Given the description of an element on the screen output the (x, y) to click on. 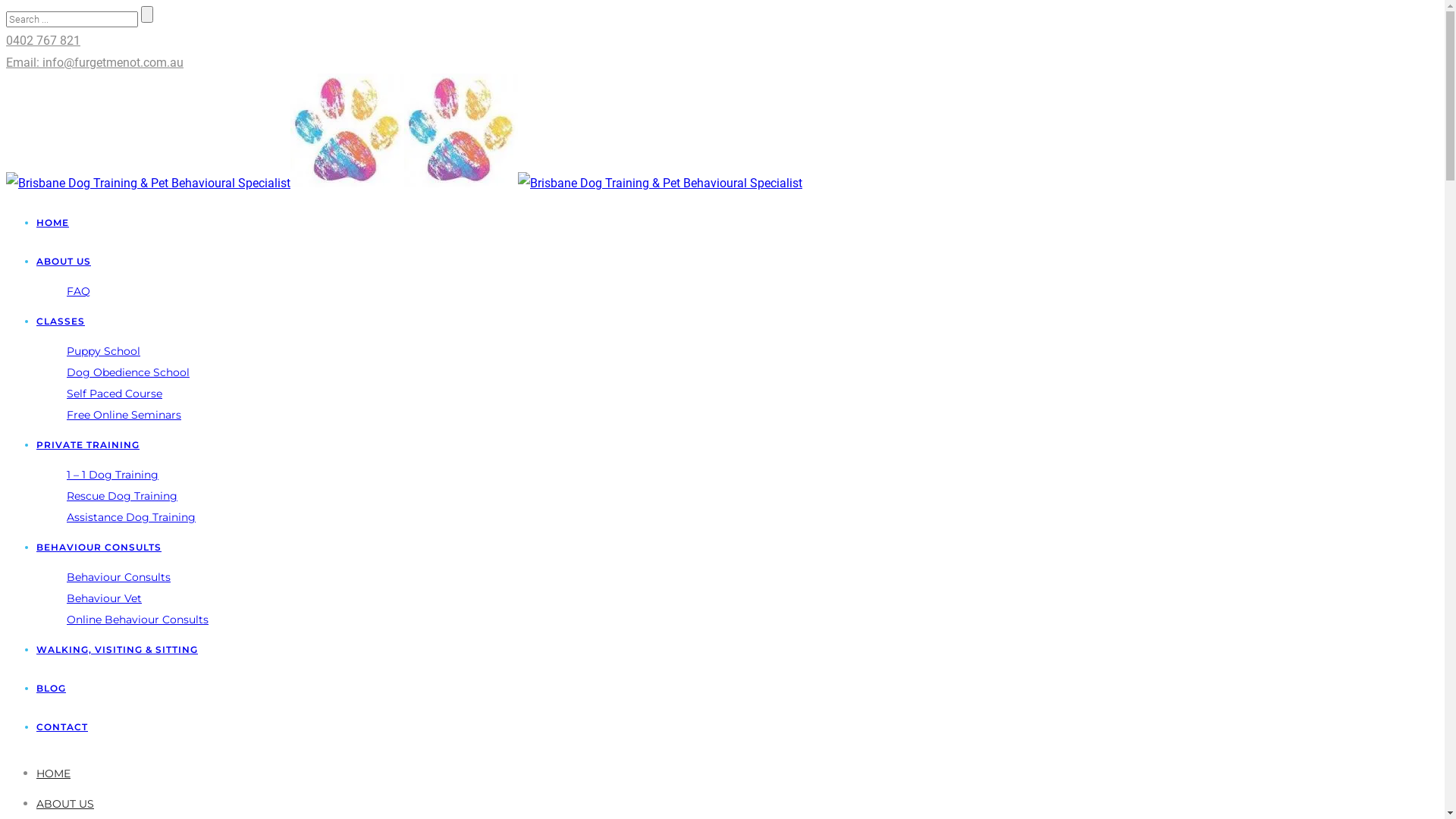
Free Online Seminars Element type: text (123, 414)
WALKING, VISITING & SITTING Element type: text (116, 649)
Rescue Dog Training Element type: text (121, 495)
Self Paced Course Element type: text (114, 393)
HOME Element type: text (53, 773)
PRIVATE TRAINING Element type: text (87, 444)
HOME Element type: text (52, 222)
BEHAVIOUR CONSULTS Element type: text (98, 546)
Assistance Dog Training Element type: text (130, 517)
Online Behaviour Consults Element type: text (137, 619)
Puppy School Element type: text (103, 350)
FAQ Element type: text (78, 291)
Behaviour Consults Element type: text (118, 576)
Email: info@furgetmenot.com.au Element type: text (94, 62)
CONTACT Element type: text (61, 726)
ABOUT US Element type: text (63, 260)
Dog Obedience School Element type: text (127, 372)
CLASSES Element type: text (60, 320)
ABOUT US Element type: text (65, 803)
0402 767 821 Element type: text (43, 40)
Behaviour Vet Element type: text (103, 598)
BLOG Element type: text (50, 687)
